Given the description of an element on the screen output the (x, y) to click on. 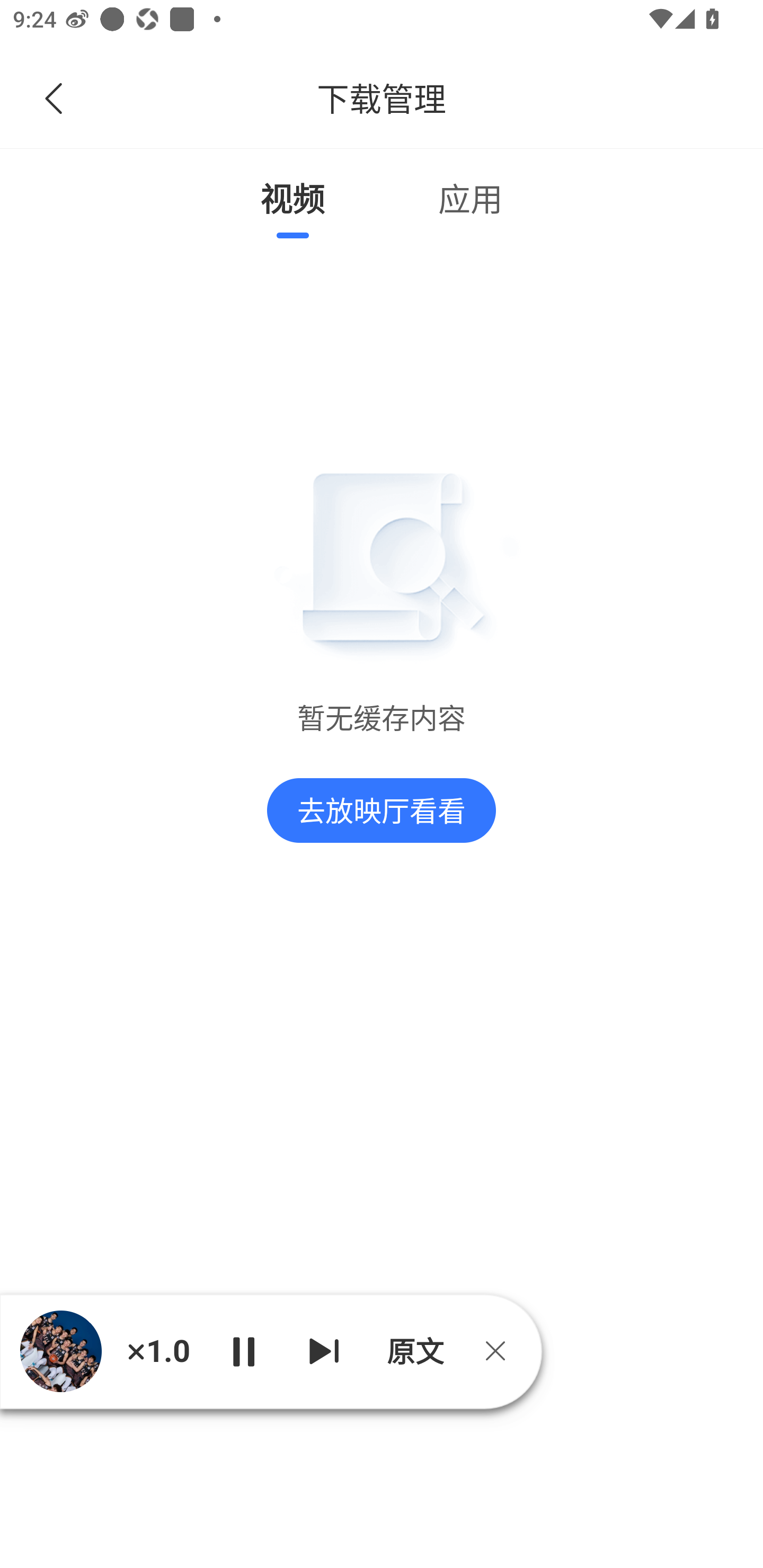
播放器 (61, 1351)
 播放 (242, 1351)
 下一个 (323, 1351)
 关闭 (501, 1350)
原文 (413, 1350)
 1.0 (157, 1351)
